Given the description of an element on the screen output the (x, y) to click on. 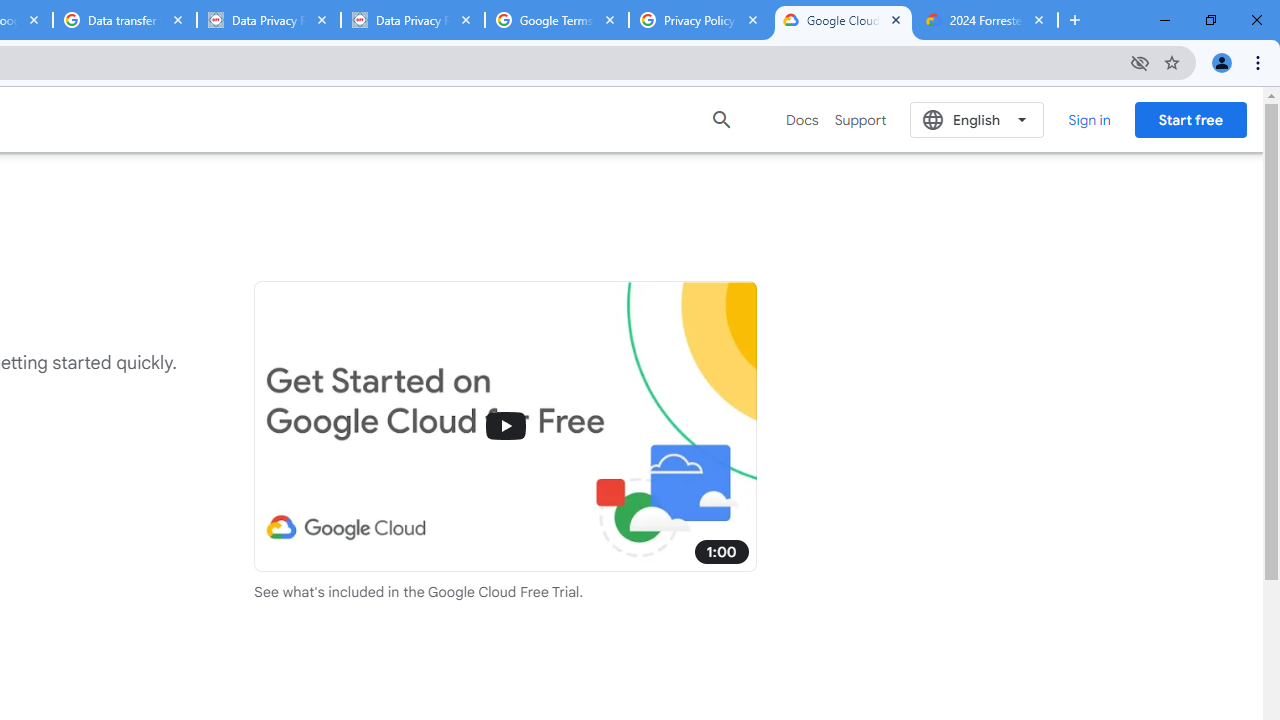
Support (860, 119)
Google Cloud Free Trial FAQs | Google Cloud (843, 20)
Data Privacy Framework (412, 20)
Data Privacy Framework (268, 20)
